Given the description of an element on the screen output the (x, y) to click on. 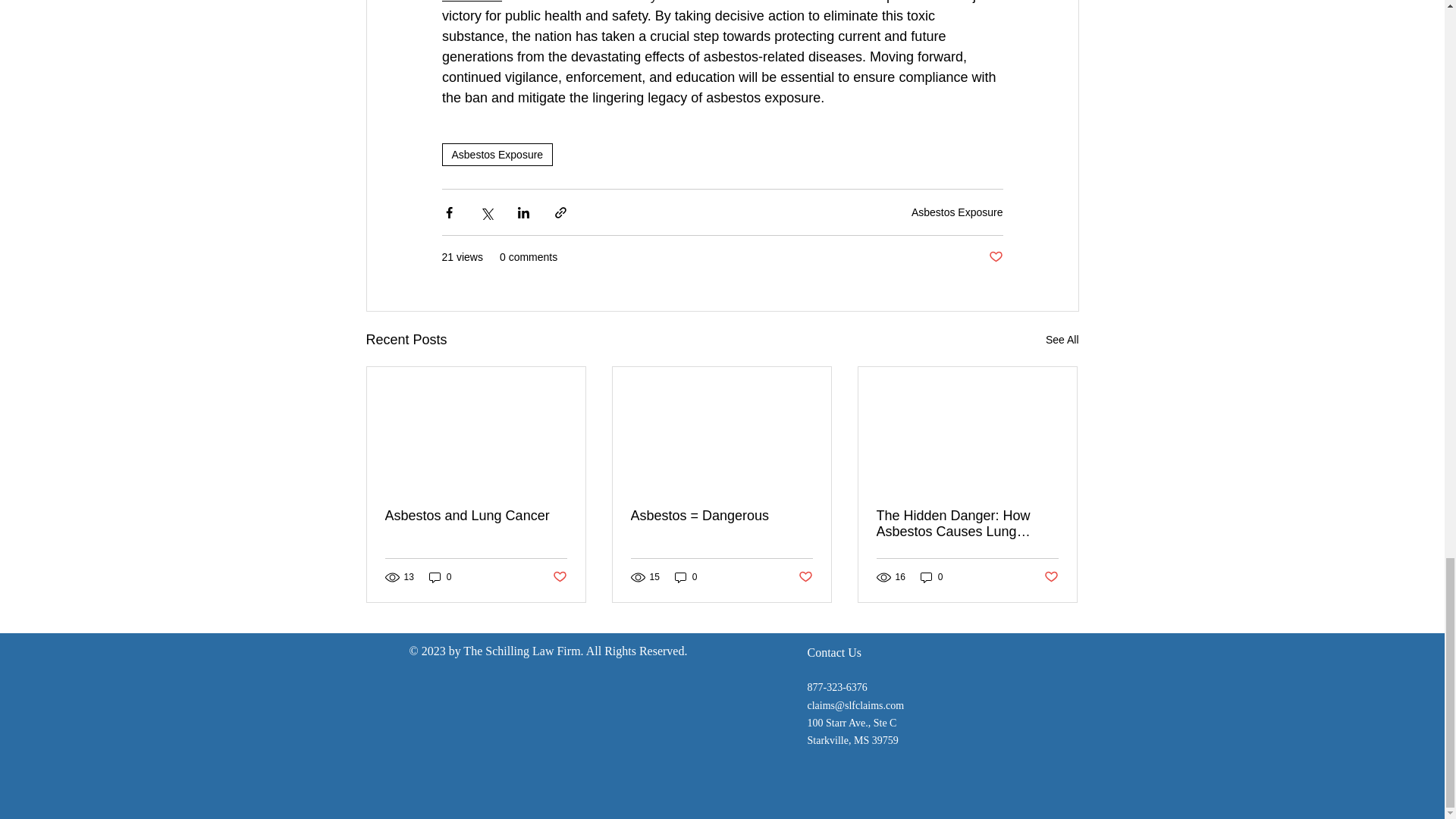
Asbestos Exposure (957, 212)
The Hidden Danger: How Asbestos Causes Lung Cancer (967, 523)
0 (685, 577)
Post not marked as liked (995, 257)
0 (931, 577)
Asbestos Exposure (497, 154)
0 (440, 577)
Post not marked as liked (558, 577)
Post not marked as liked (1050, 577)
Post not marked as liked (804, 577)
